Given the description of an element on the screen output the (x, y) to click on. 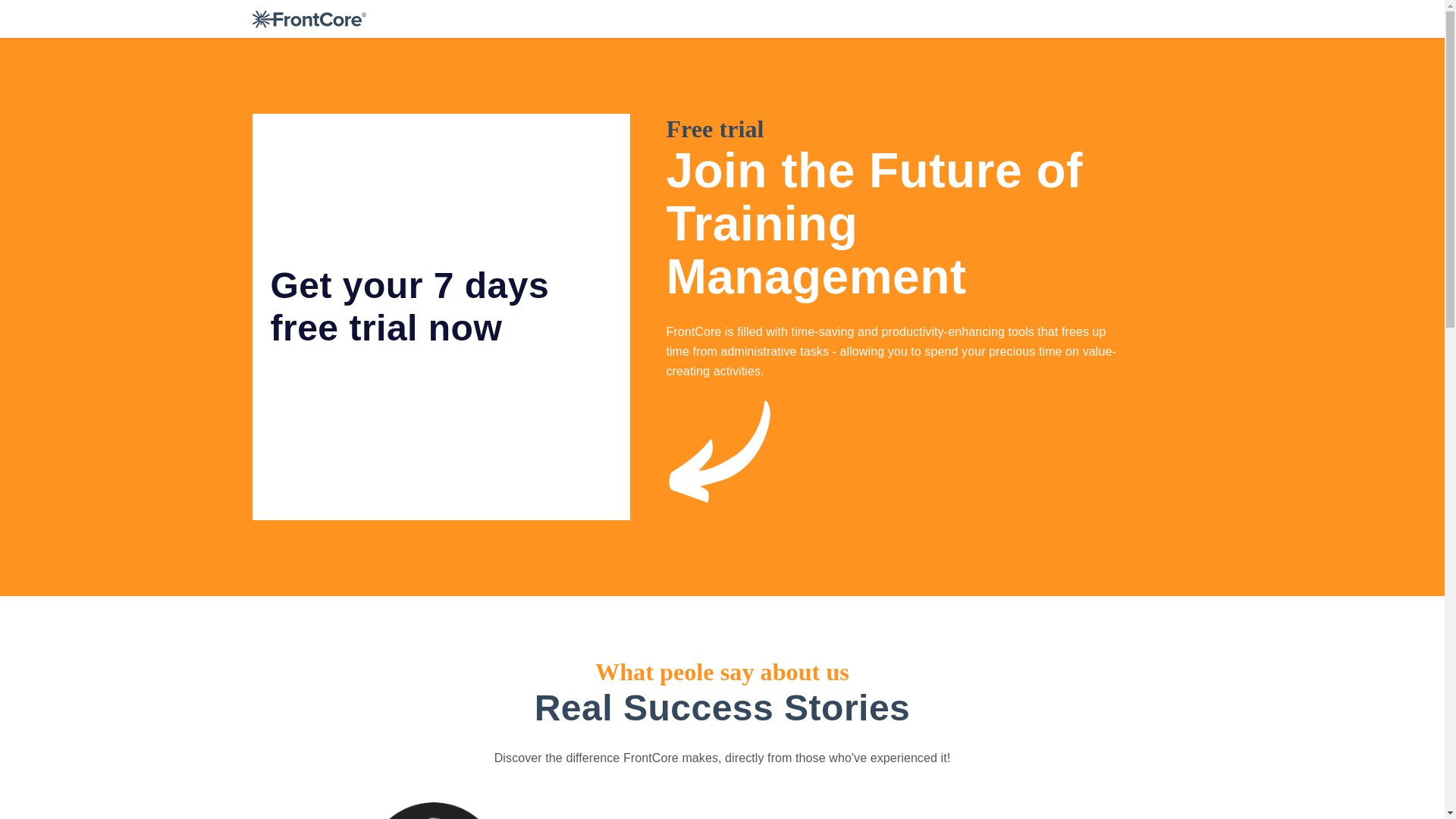
White arrow (721, 457)
